Given the description of an element on the screen output the (x, y) to click on. 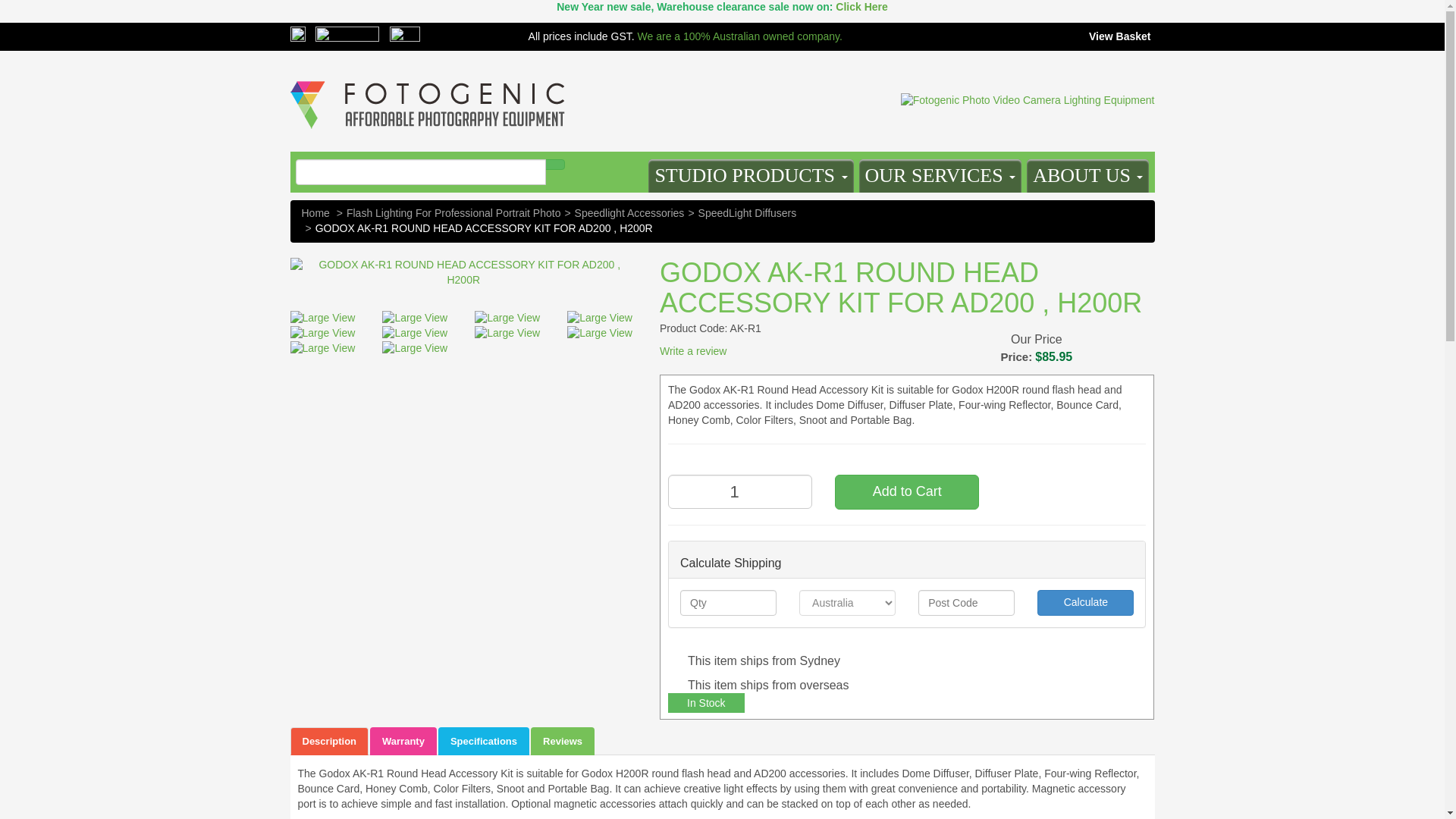
Large View (602, 333)
Click Here (860, 6)
Fotogenic Photo Video Camera Lighting Equipment (426, 80)
Large View (324, 348)
Large View (509, 333)
Large View (602, 318)
Large View (416, 333)
Large View (416, 348)
Search (554, 163)
View Basket (1117, 36)
